Given the description of an element on the screen output the (x, y) to click on. 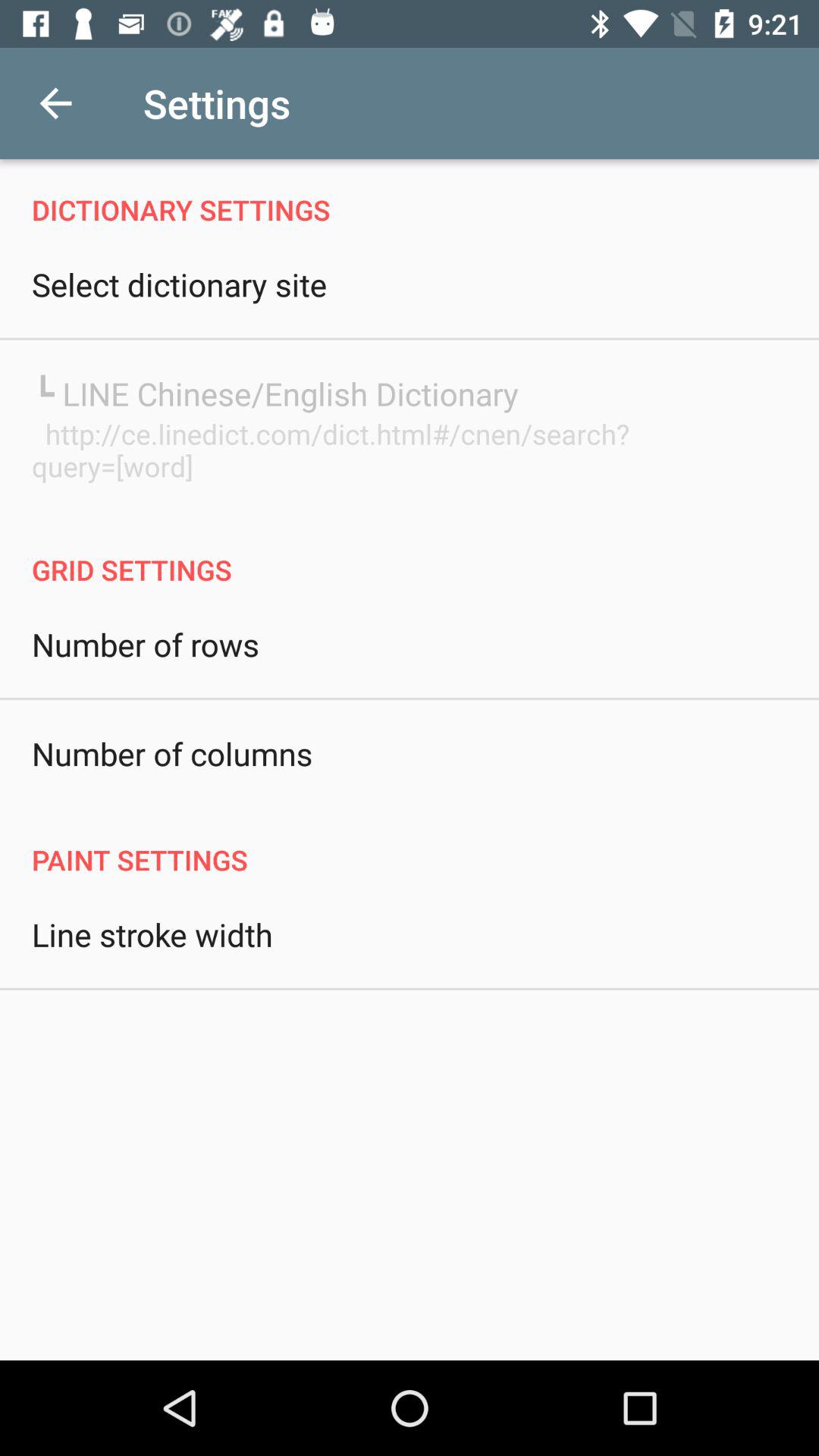
turn off the grid settings (409, 553)
